Given the description of an element on the screen output the (x, y) to click on. 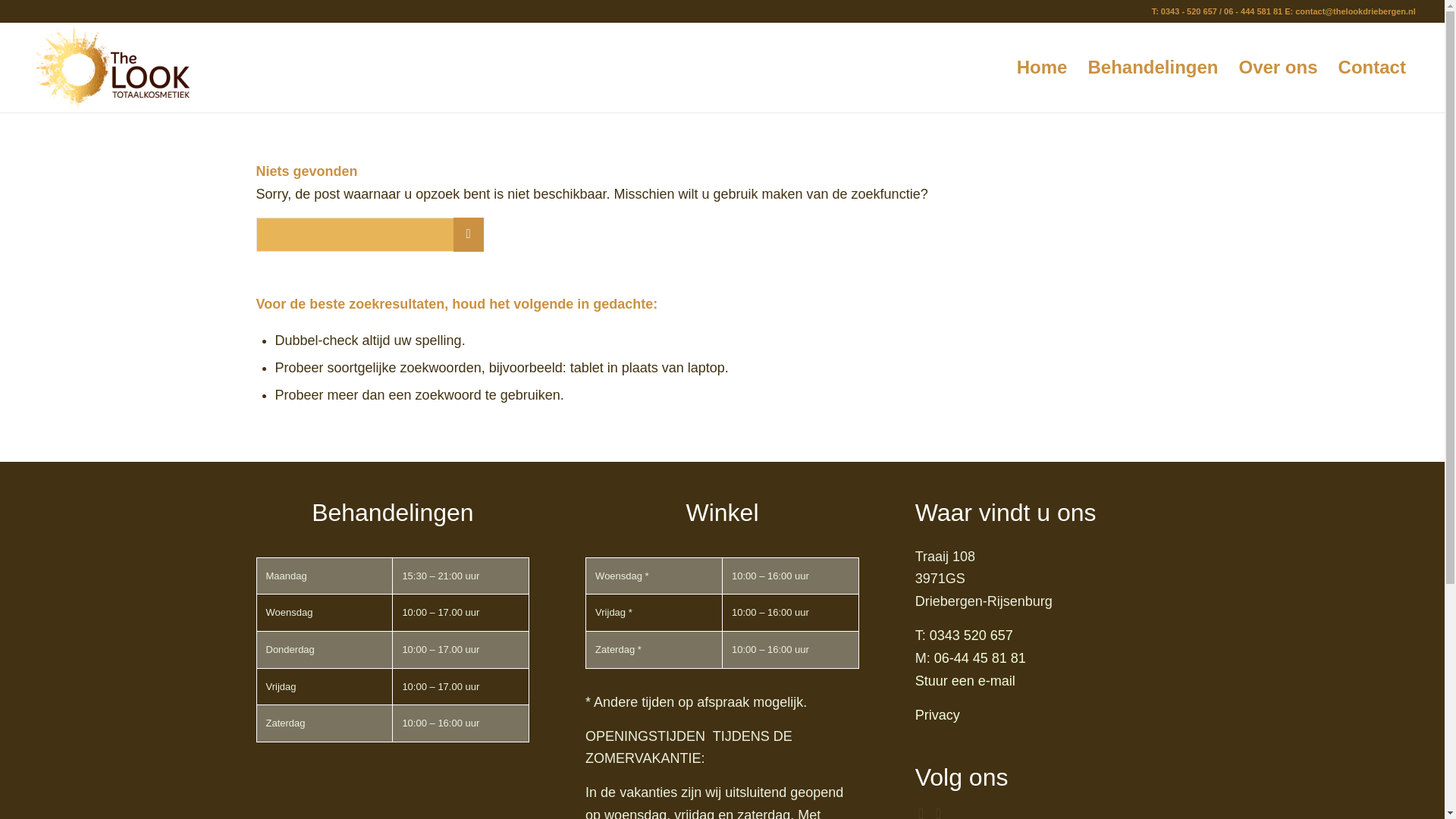
0343 - 520 657 (1188, 10)
Contact (1371, 67)
Behandelingen (1152, 67)
0343 520 657 (971, 635)
Stuur een e-mail (964, 680)
06-44 45 81 81 (980, 657)
Over ons (1277, 67)
06 - 444 581 81 (1253, 10)
Privacy (937, 714)
